Given the description of an element on the screen output the (x, y) to click on. 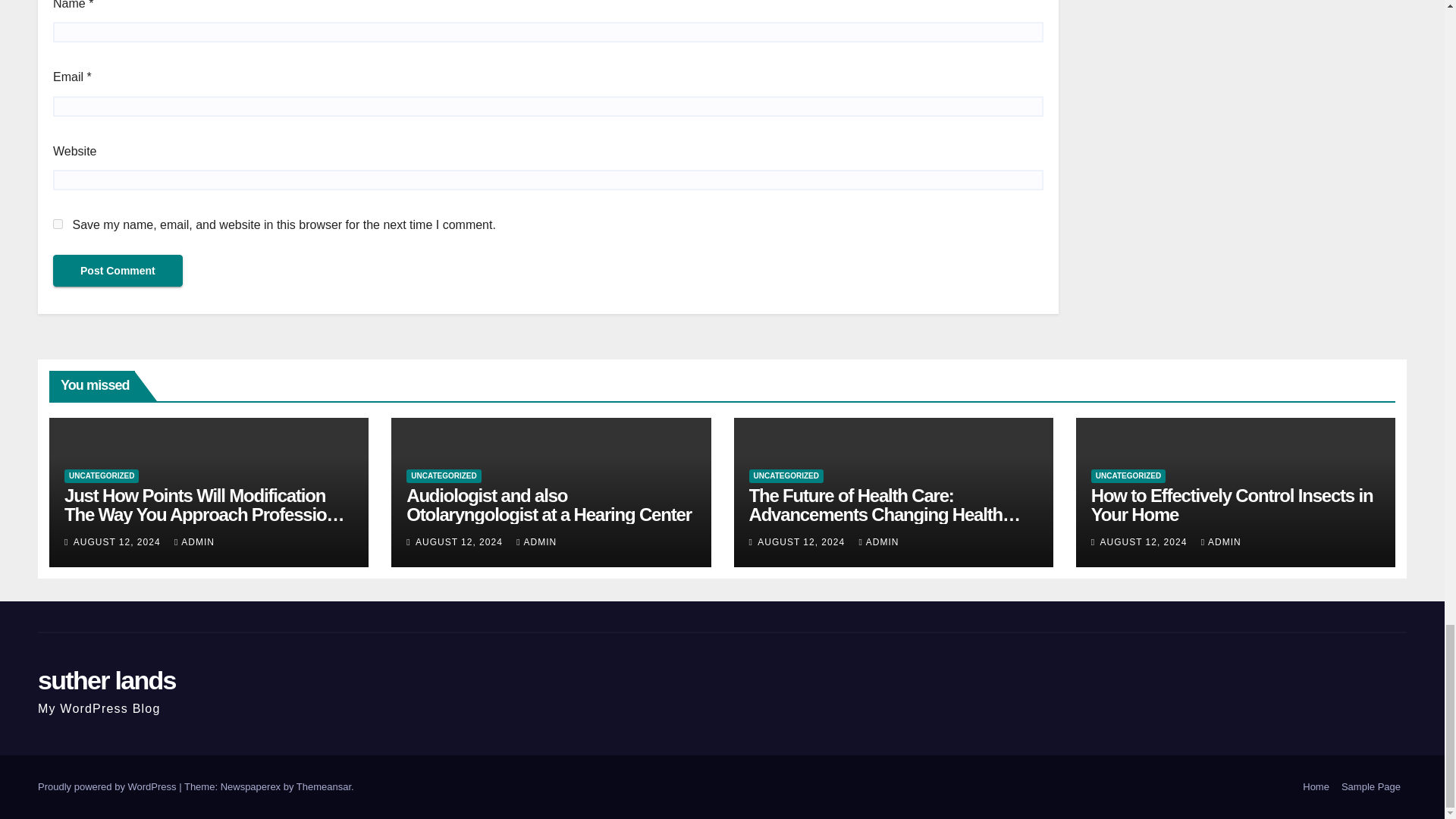
Home (1316, 786)
yes (57, 224)
Post Comment (117, 270)
Post Comment (117, 270)
